Given the description of an element on the screen output the (x, y) to click on. 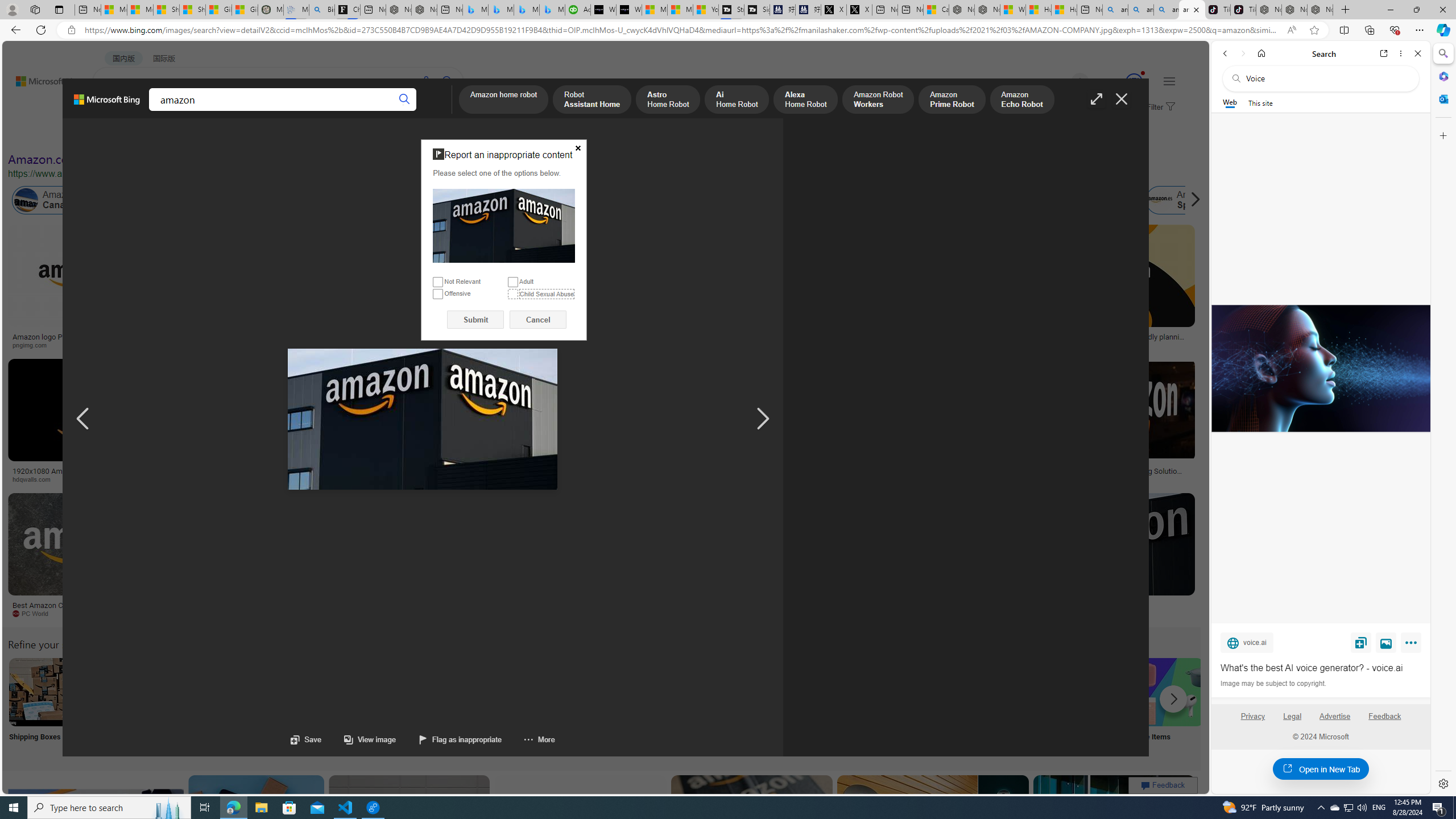
usatoday.com (403, 344)
Amazon Retail Store Retail Store (493, 706)
Image size (127, 135)
Type (212, 135)
DICT (357, 111)
Amazon Package Delivery (418, 691)
MAPS (397, 111)
Amazon Online Shopping Search (118, 691)
